Given the description of an element on the screen output the (x, y) to click on. 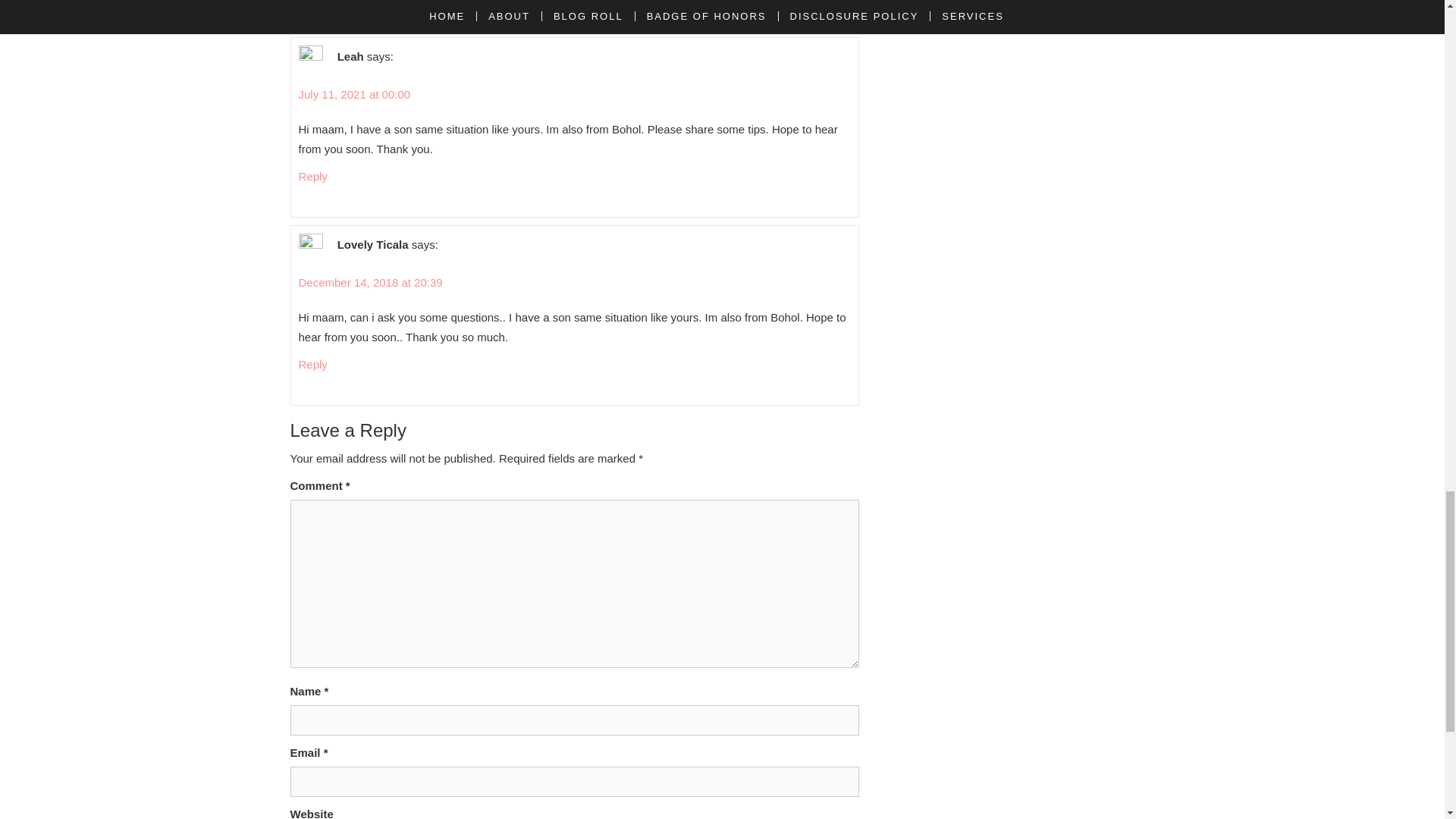
Reply (312, 364)
July 11, 2021 at 00:00 (354, 93)
December 14, 2018 at 20:39 (370, 282)
Reply (312, 175)
